Given the description of an element on the screen output the (x, y) to click on. 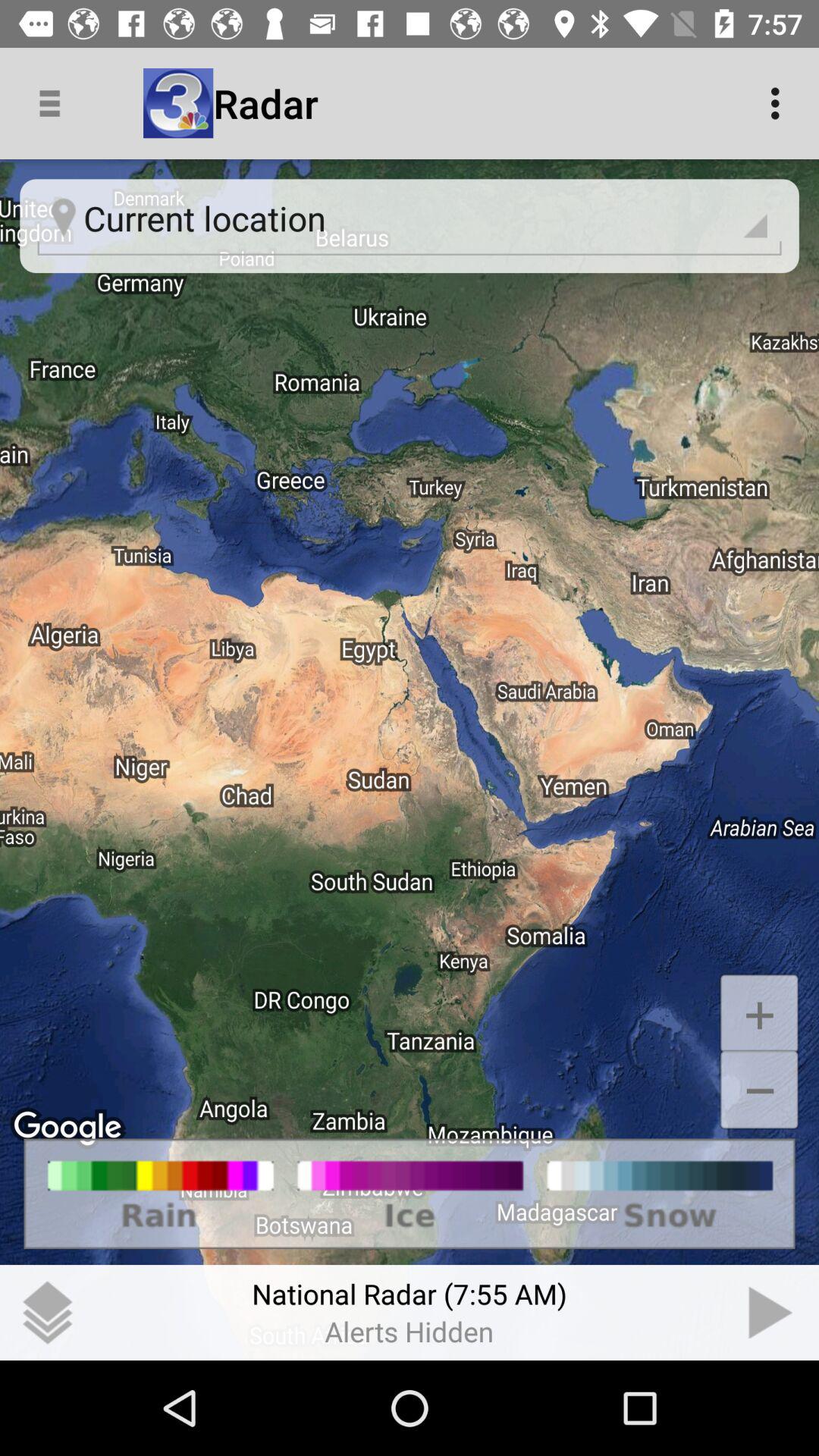
choose the + icon (759, 1013)
